Given the description of an element on the screen output the (x, y) to click on. 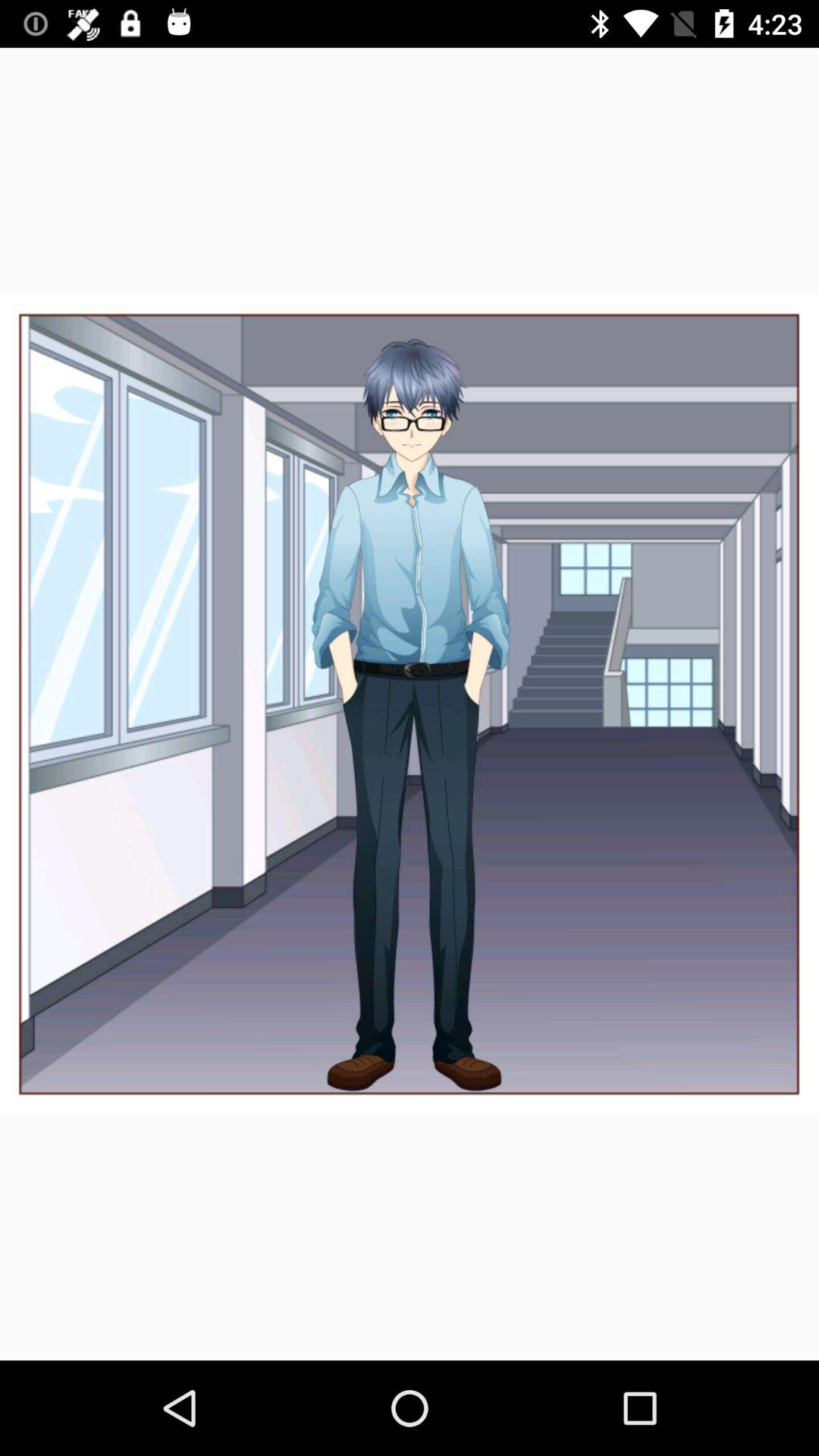
tap the item at the center (409, 703)
